Given the description of an element on the screen output the (x, y) to click on. 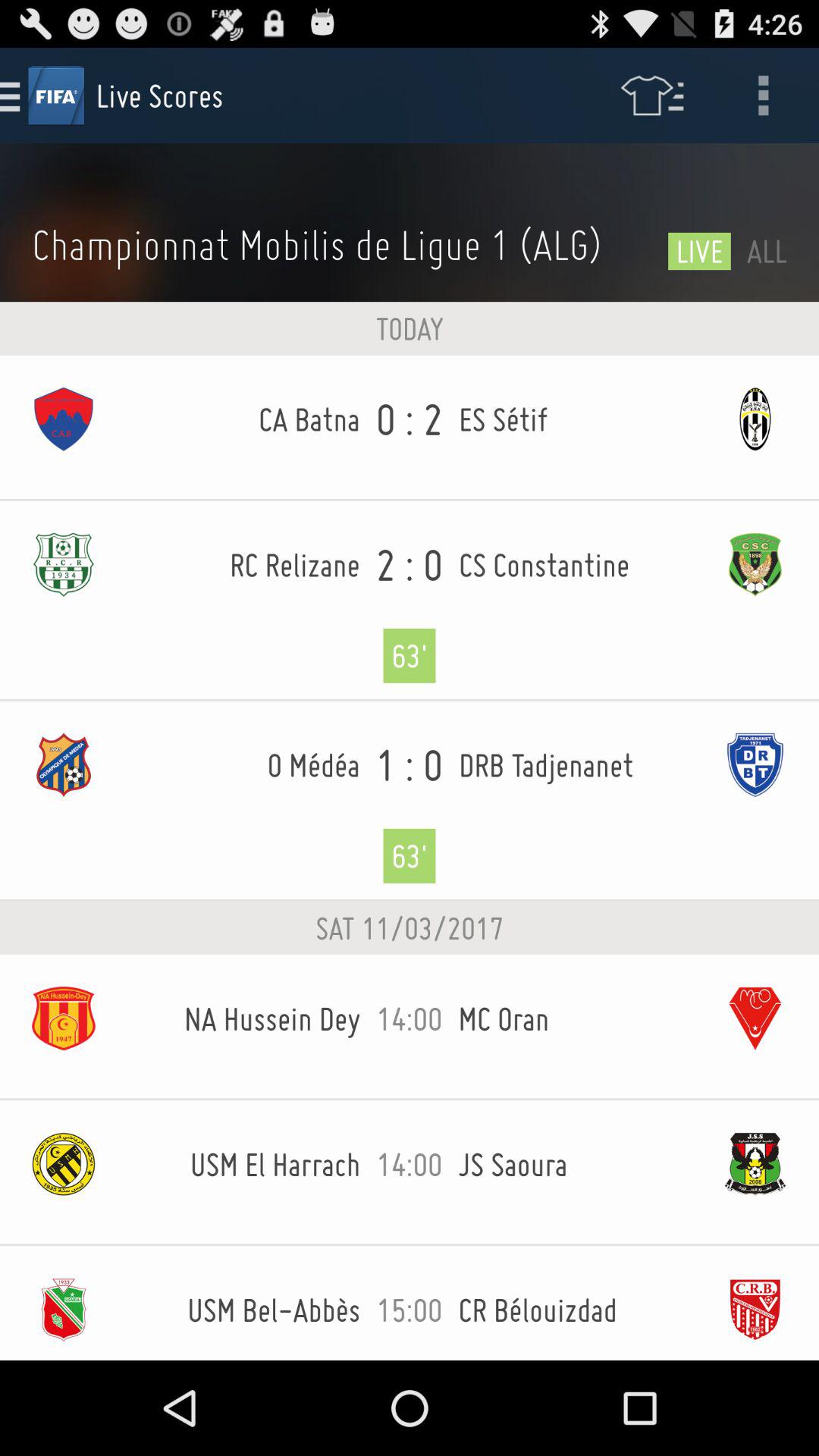
jump until na hussein dey (243, 1018)
